Given the description of an element on the screen output the (x, y) to click on. 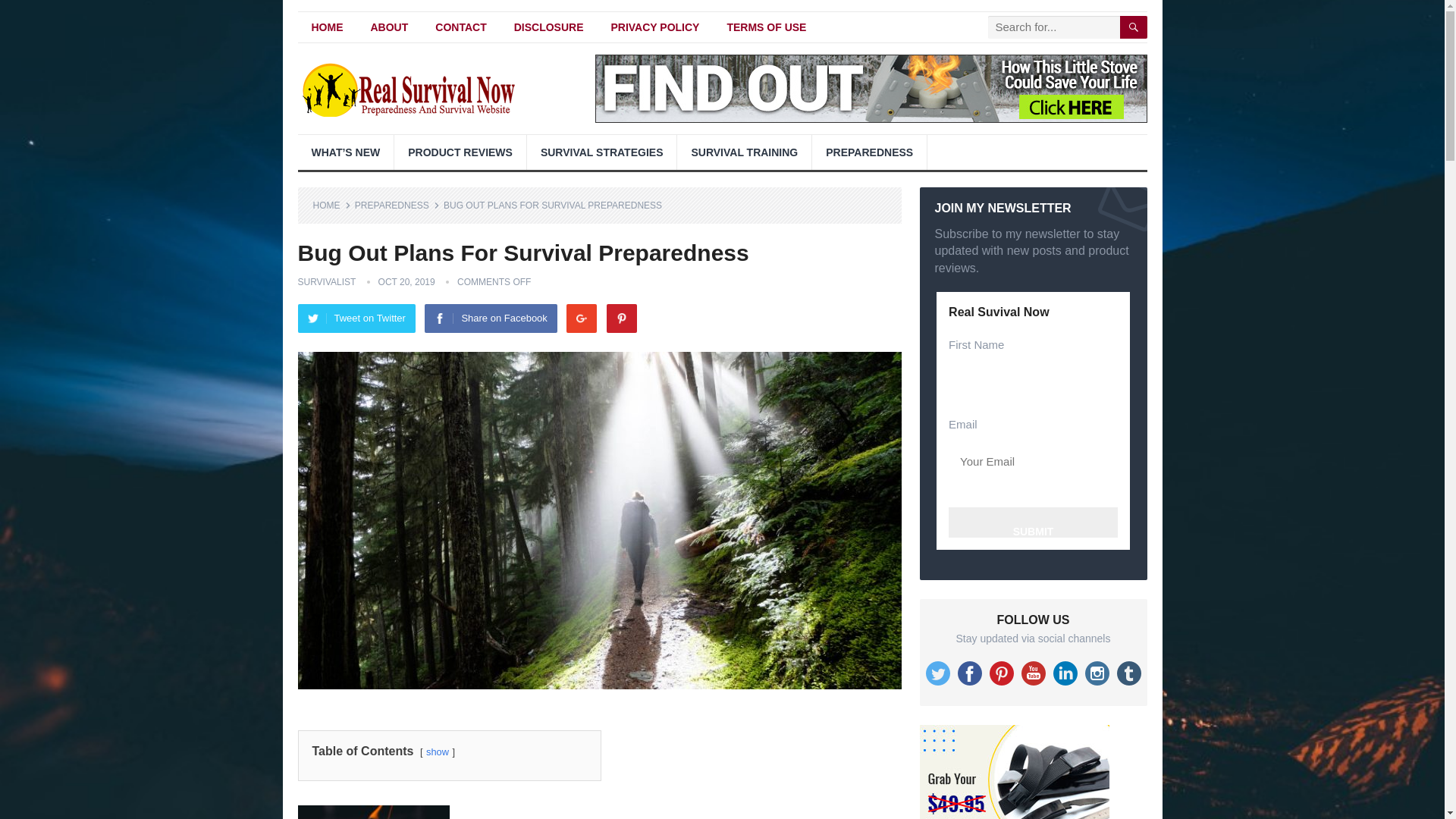
PRODUCT REVIEWS (459, 152)
PRIVACY POLICY (654, 27)
PREPAREDNESS (397, 204)
SURVIVAL STRATEGIES (602, 152)
TERMS OF USE (766, 27)
PREPAREDNESS (869, 152)
ABOUT (389, 27)
HOME (331, 204)
Tweet on Twitter (355, 317)
View all posts in Preparedness (397, 204)
